Given the description of an element on the screen output the (x, y) to click on. 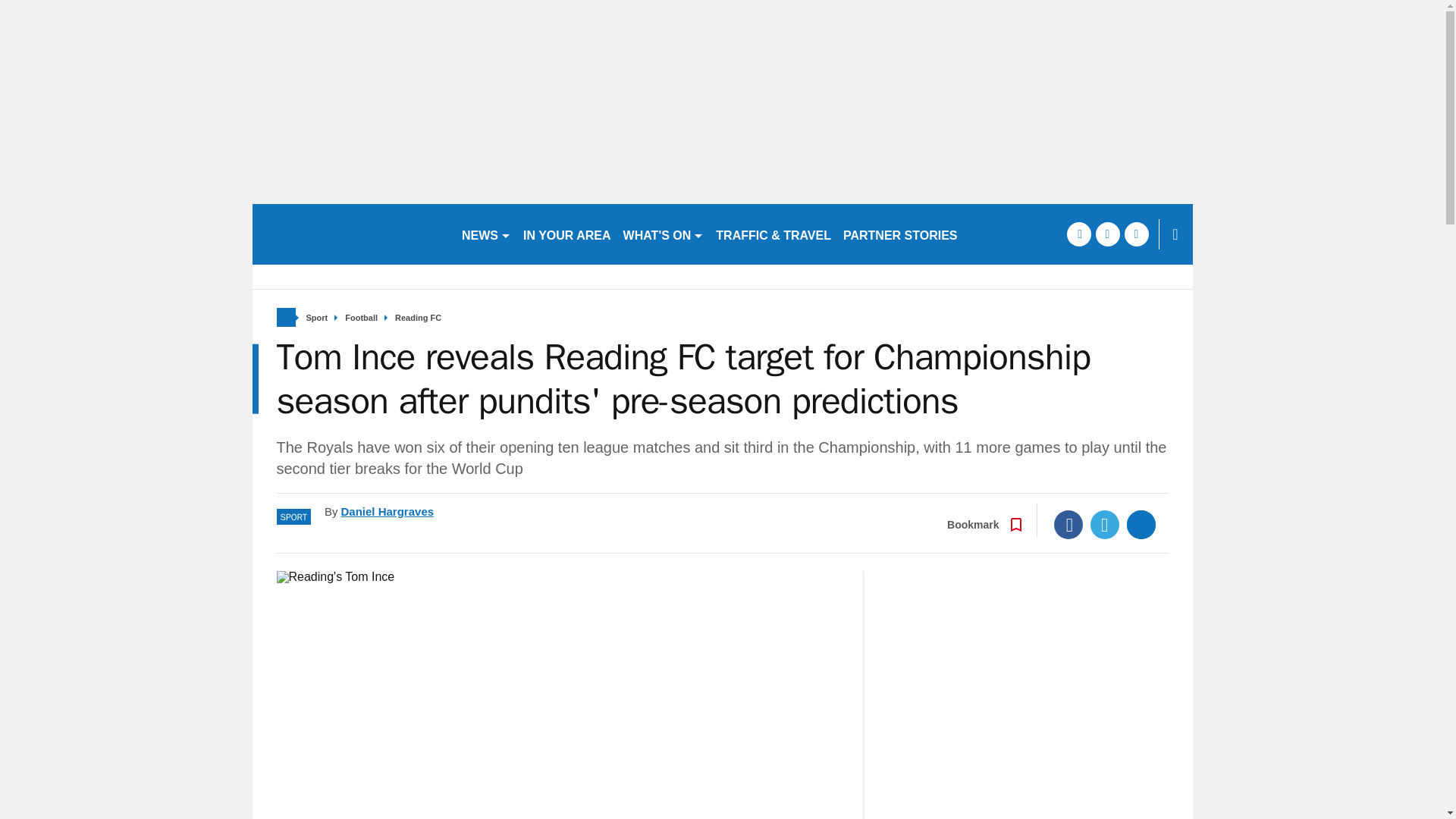
Twitter (1104, 524)
Facebook (1068, 524)
facebook (1077, 233)
WHAT'S ON (663, 233)
PARTNER STORIES (900, 233)
IN YOUR AREA (566, 233)
instagram (1136, 233)
getreading (349, 233)
NEWS (485, 233)
twitter (1106, 233)
